Given the description of an element on the screen output the (x, y) to click on. 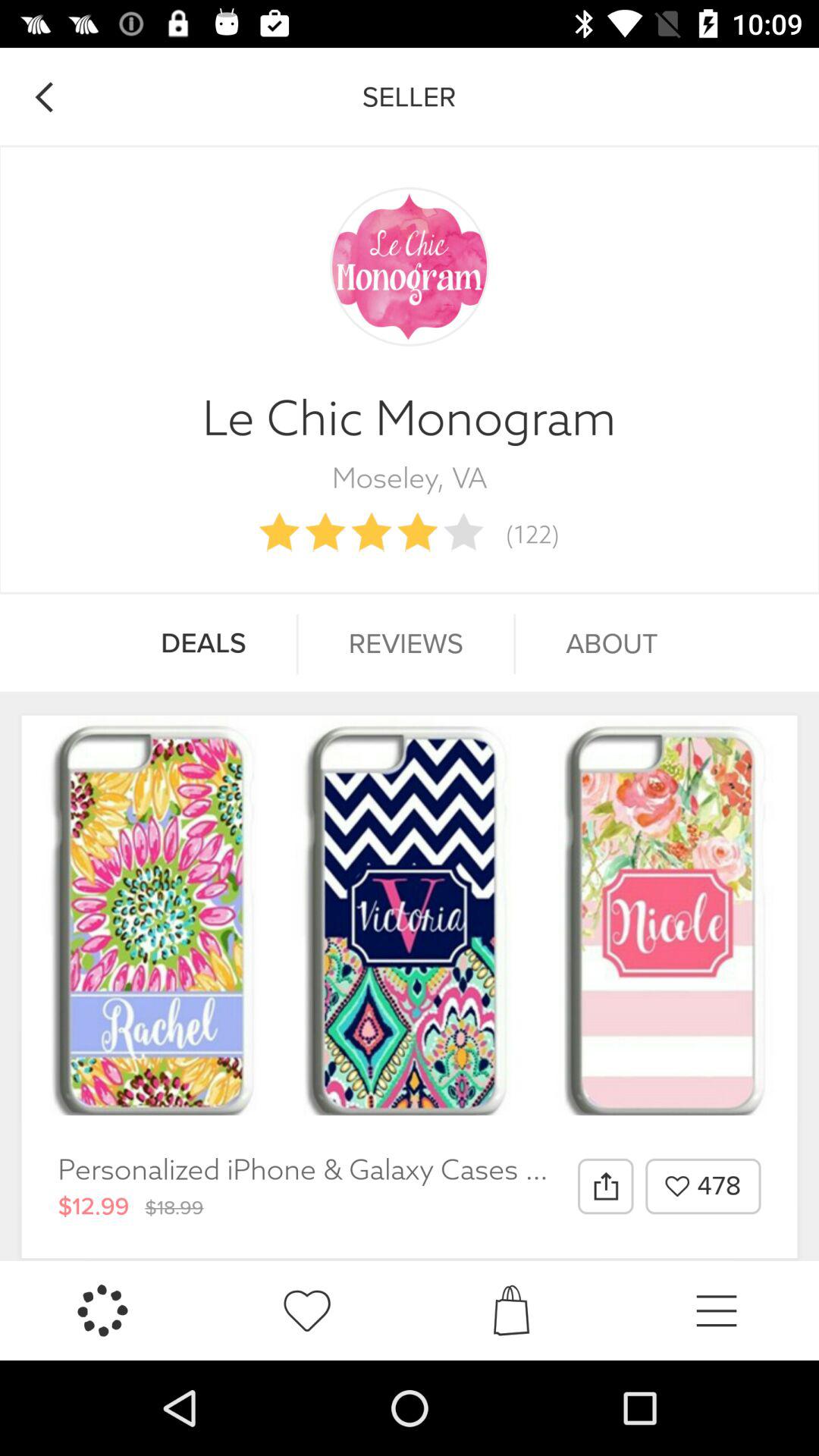
click on second like button which is at bottom right corner of the page (306, 1309)
click on about (611, 644)
click on deals (203, 644)
